Given the description of an element on the screen output the (x, y) to click on. 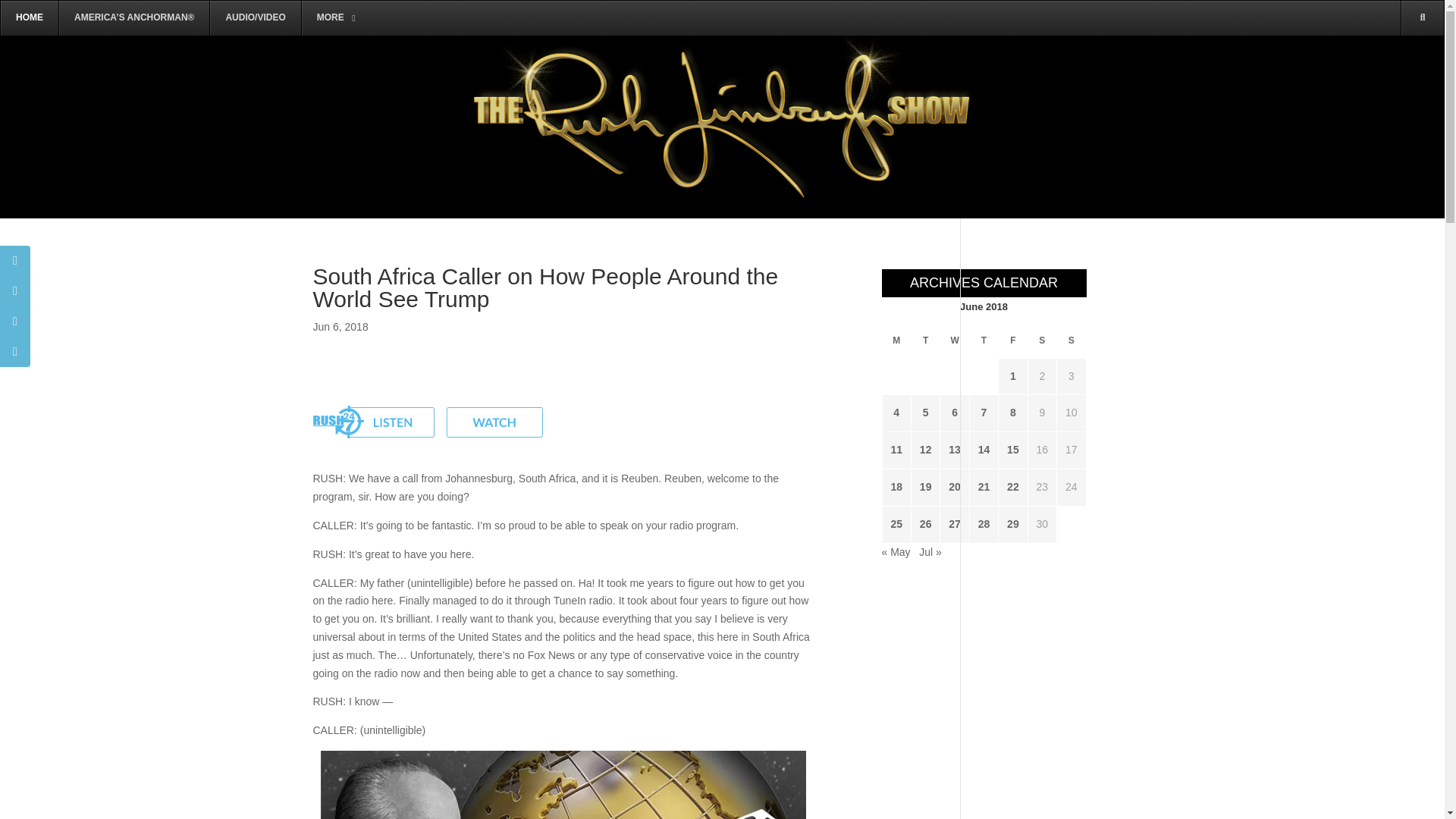
Sunday (1071, 340)
Monday (896, 340)
HOME (29, 18)
Friday (1012, 340)
1 (1012, 376)
Wednesday (954, 340)
Thursday (983, 340)
Tuesday (925, 340)
Search (1400, 87)
Saturday (1042, 340)
